Given the description of an element on the screen output the (x, y) to click on. 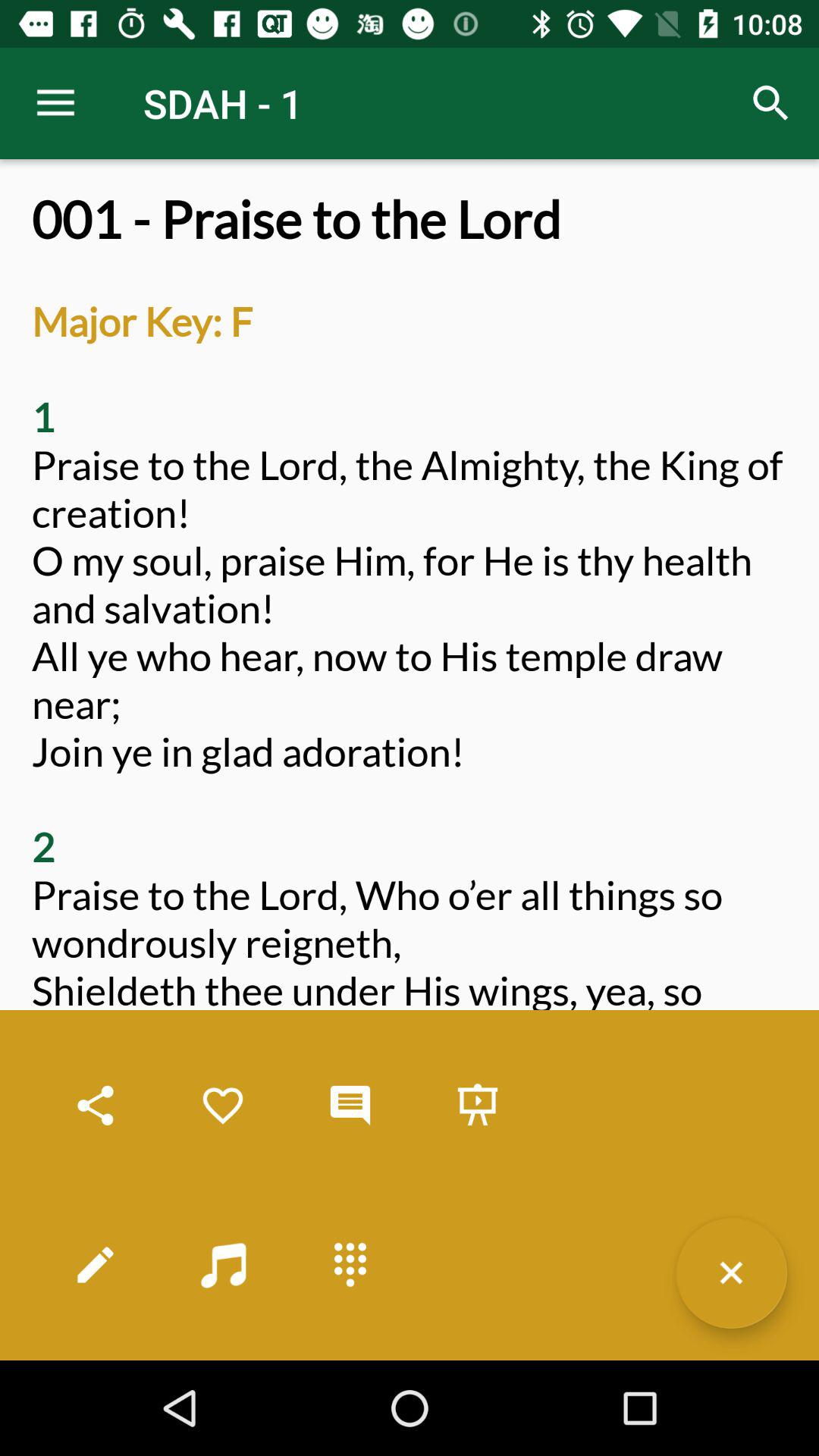
go to music (222, 1264)
